Given the description of an element on the screen output the (x, y) to click on. 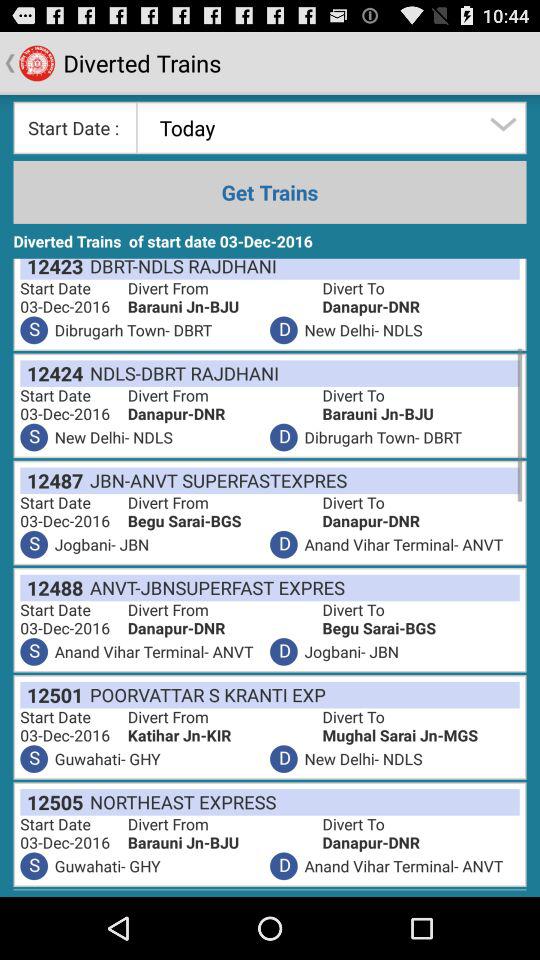
open the item below   d item (215, 480)
